Given the description of an element on the screen output the (x, y) to click on. 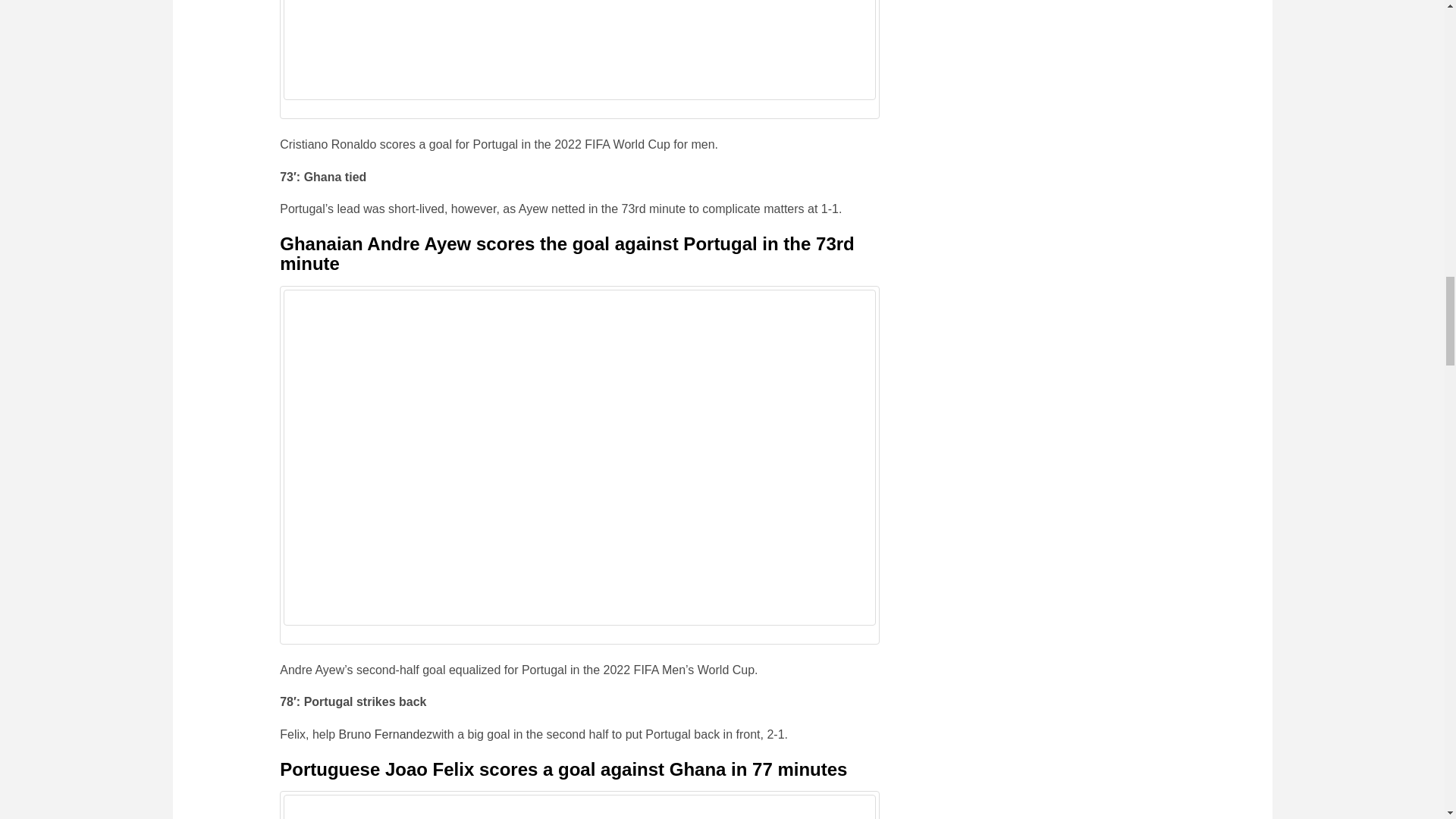
Bruno Fernandez (385, 734)
